Given the description of an element on the screen output the (x, y) to click on. 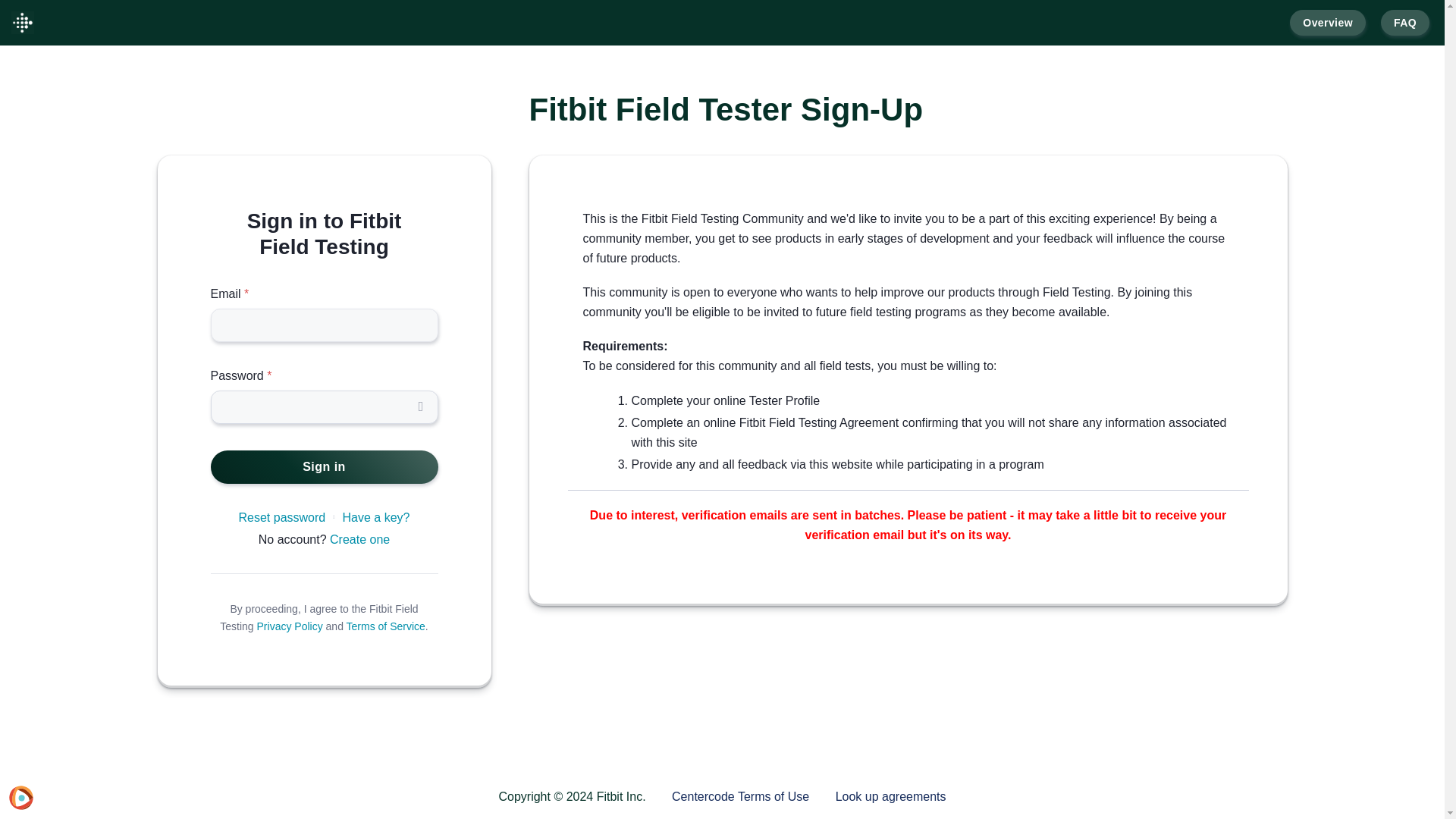
FAQ (1404, 22)
Reset password (281, 517)
Have a key? (376, 517)
Overview (1327, 22)
Terms of Service (385, 625)
Create one (360, 539)
Sign in (324, 467)
Privacy Policy (290, 625)
